Given the description of an element on the screen output the (x, y) to click on. 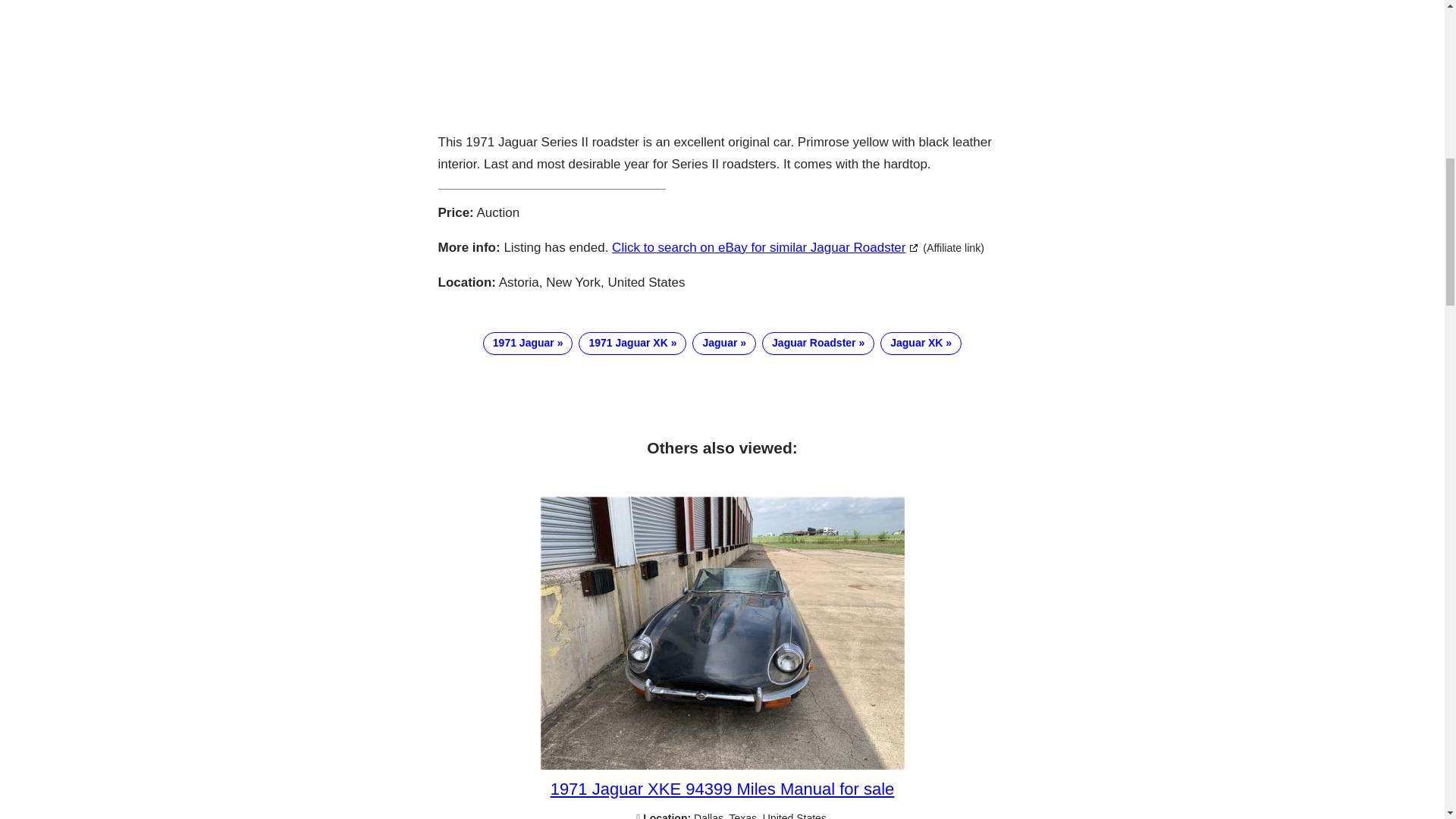
Jaguar (724, 343)
1971 Jaguar XKE 94399 Miles Manual for sale (722, 788)
1971 Jaguar (528, 343)
Click to search on eBay for similar Jaguar Roadster (764, 247)
1971 Jaguar XKE 94399 Miles Manual for sale (722, 766)
Advertisement (722, 59)
Jaguar Roadster (818, 343)
1971 Jaguar XK (631, 343)
Jaguar XK (920, 343)
